Given the description of an element on the screen output the (x, y) to click on. 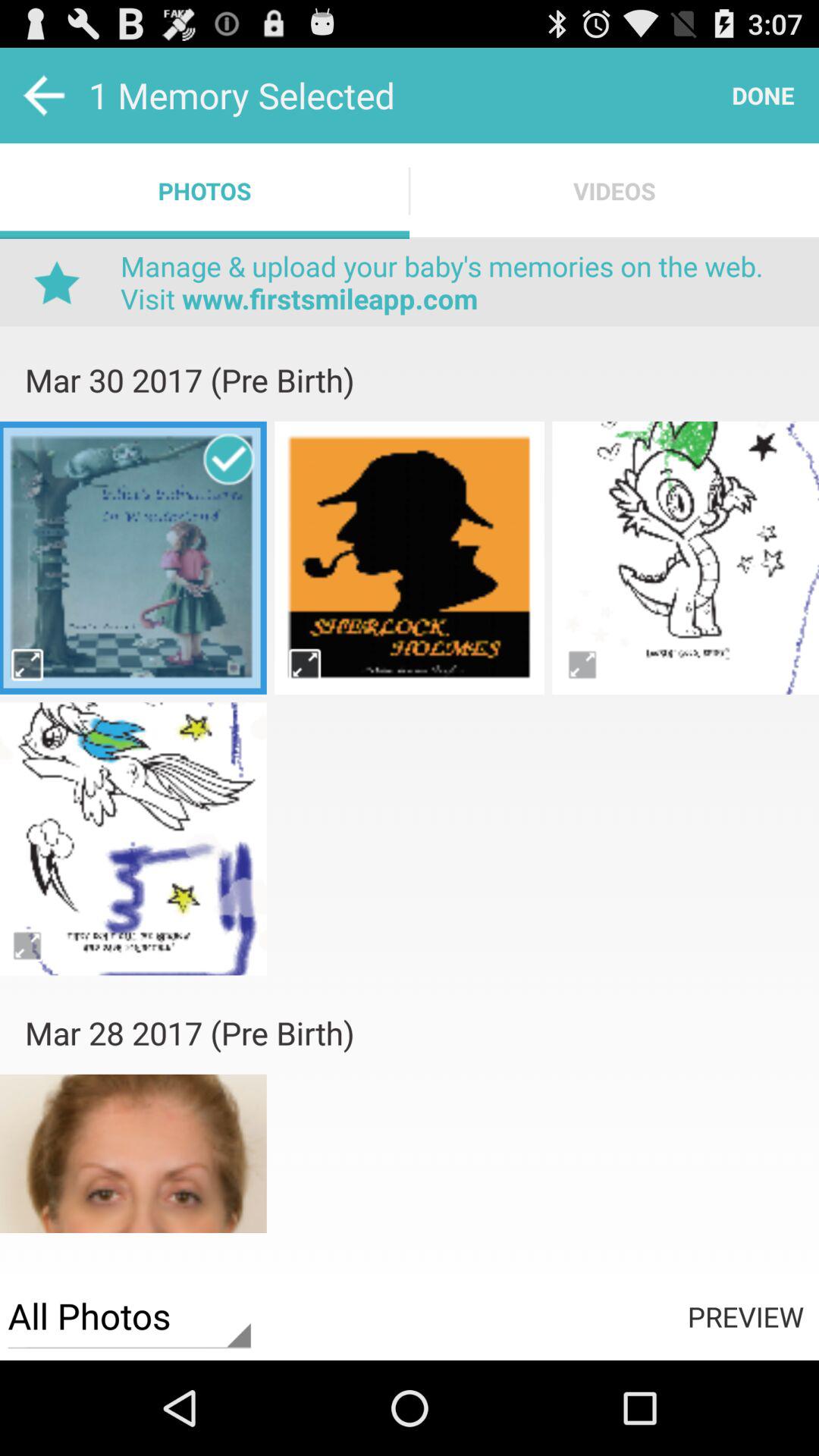
photo select (133, 1169)
